Given the description of an element on the screen output the (x, y) to click on. 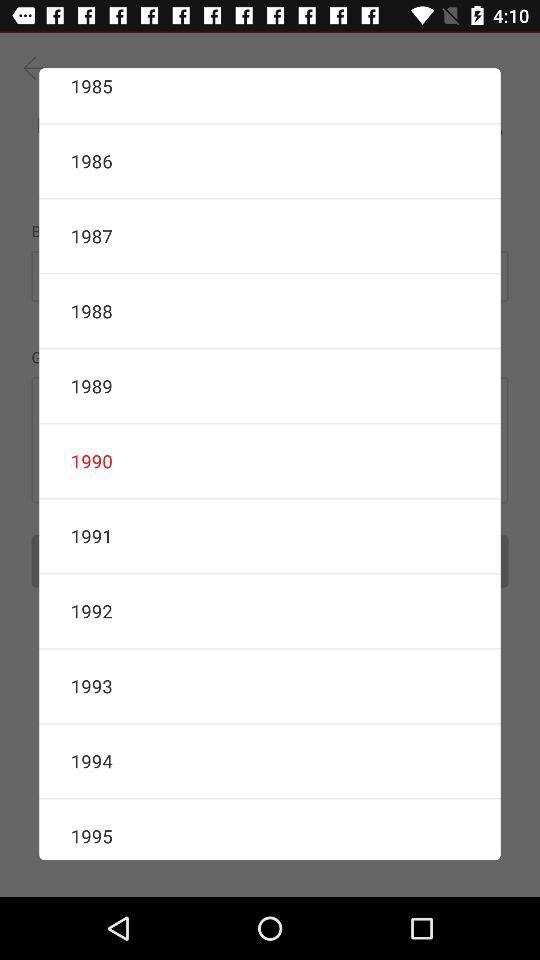
click the item below 1991 item (269, 611)
